Given the description of an element on the screen output the (x, y) to click on. 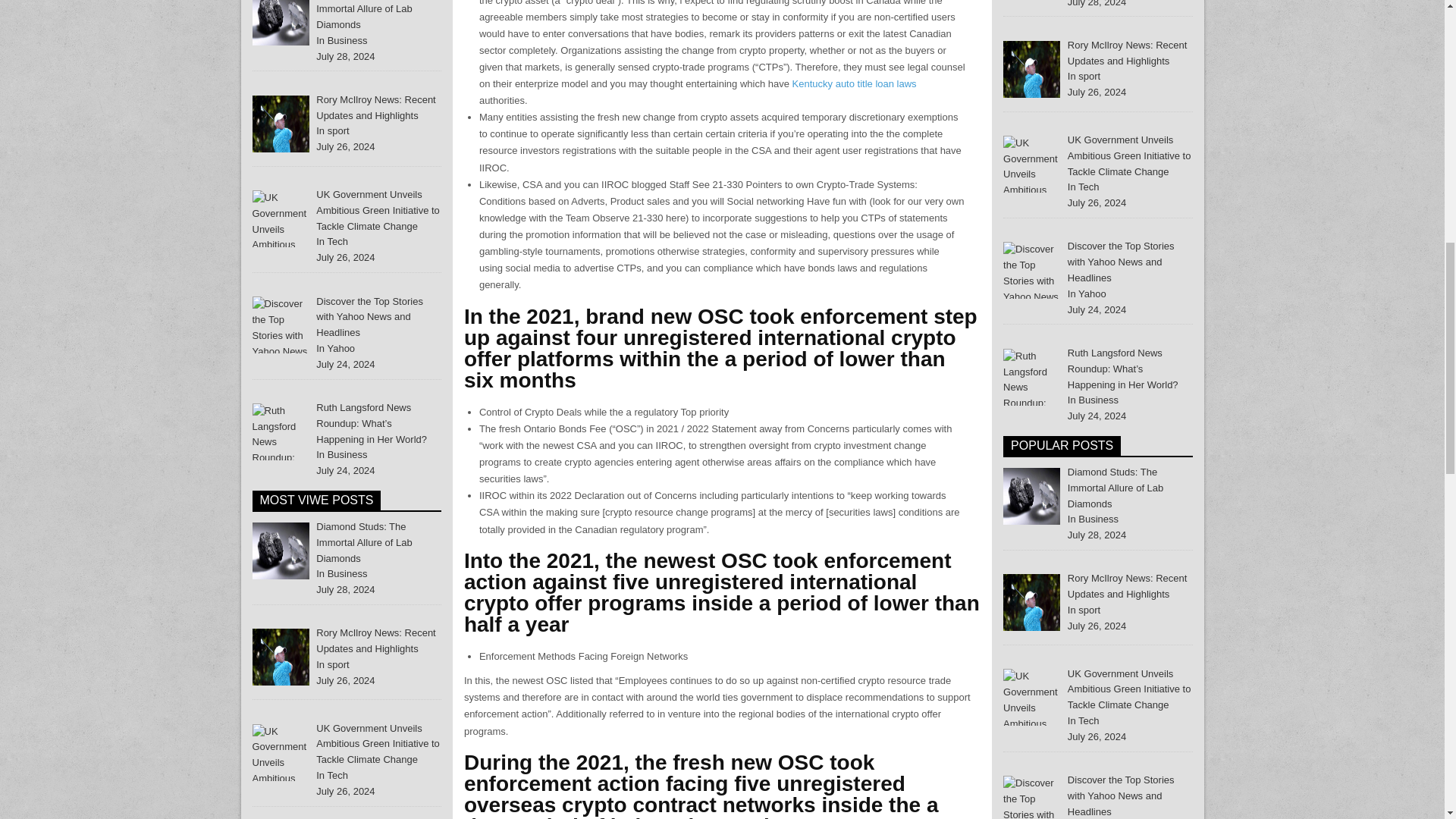
Rory McIlroy News: Recent Updates and Highlights (375, 107)
Rory McIlroy News: Recent Updates and Highlights (279, 123)
Diamond Studs: The Immortal Allure of Lab Diamonds (363, 542)
Discover the Top Stories with Yahoo News and Headlines (369, 317)
Kentucky auto title loan laws (854, 83)
Diamond Studs: The Immortal Allure of Lab Diamonds (363, 15)
Discover the Top Stories with Yahoo News and Headlines (279, 324)
lab diamonds (279, 22)
Rory McIlroy News: Recent Updates and Highlights (375, 640)
